Given the description of an element on the screen output the (x, y) to click on. 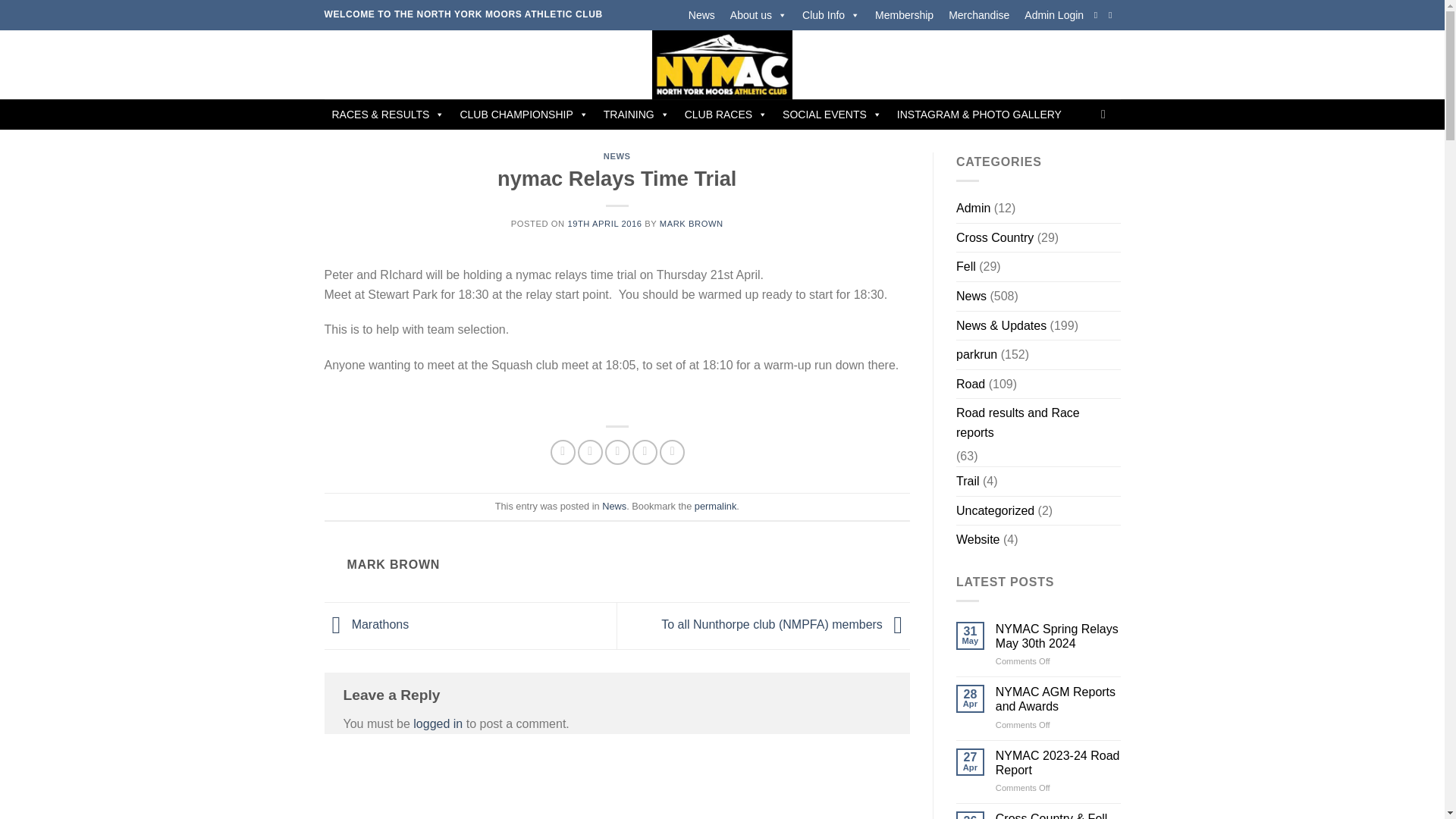
Follow on Facebook (1098, 14)
CLUB CHAMPIONSHIP (523, 114)
Share on LinkedIn (671, 452)
Follow on Instagram (1113, 14)
Admin Login (1053, 15)
Pin on Pinterest (644, 452)
Share on Facebook (562, 452)
North York Moors Athletic Club (722, 64)
News (701, 15)
NYMAC Spring Relays May 30th 2024 (1058, 635)
Club Info (830, 15)
Permalink to nymac Relays Time Trial (715, 505)
NYMAC AGM Reports and Awards (1058, 698)
About us (758, 15)
NYMAC 2023-24 Road Report (1058, 762)
